Given the description of an element on the screen output the (x, y) to click on. 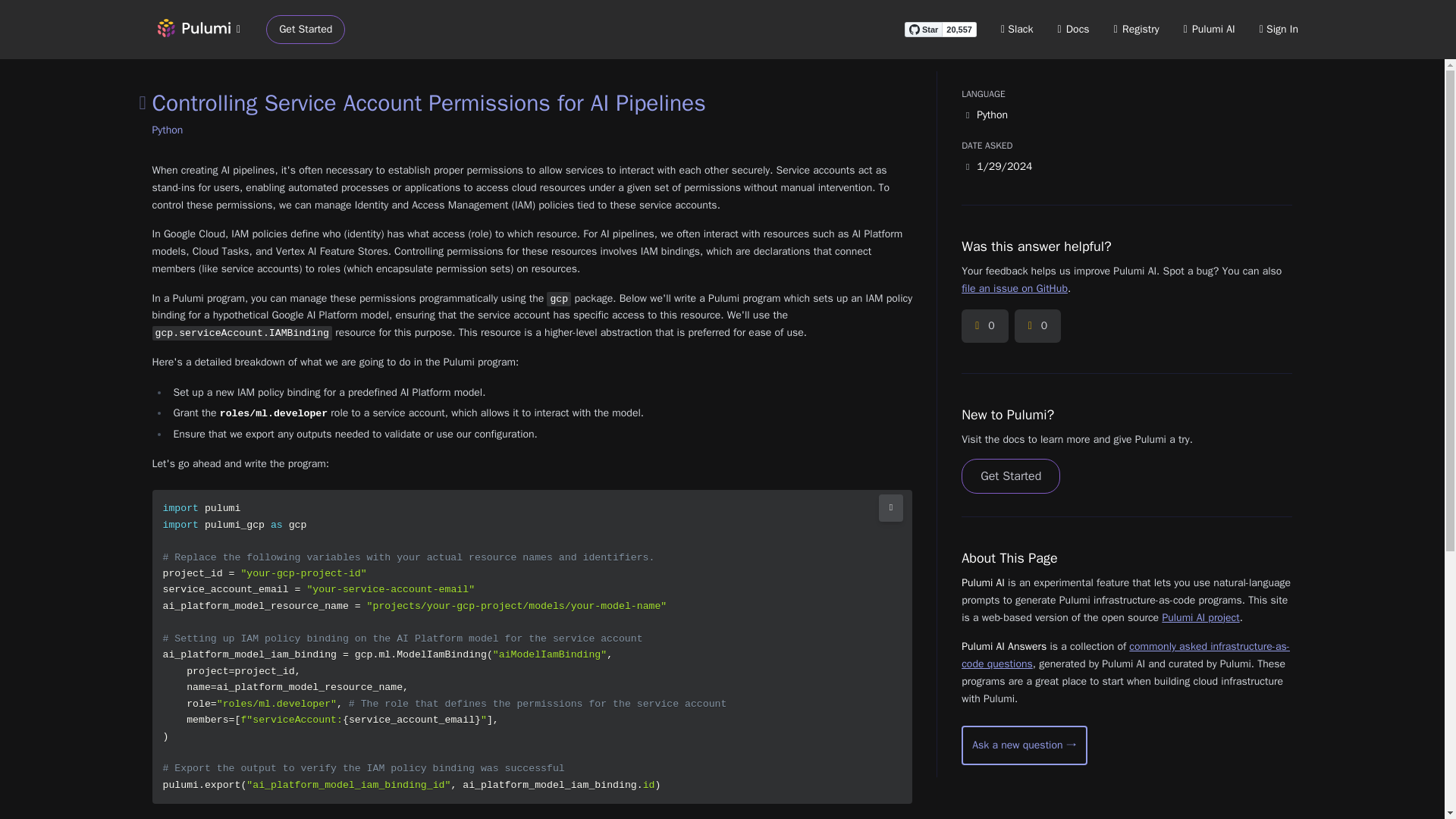
0 (1037, 326)
 Star (923, 29)
Sign In (1278, 29)
Slack (1017, 29)
Pulumi AI (1208, 29)
Docs (1073, 29)
Upvote this answer (984, 326)
file an issue on GitHub (1013, 287)
Registry (1135, 29)
0 (984, 326)
Get Started (305, 29)
Downvote this answer (1037, 326)
20,557 (959, 29)
Start a new conversation with Pulumi AI (1023, 744)
